Given the description of an element on the screen output the (x, y) to click on. 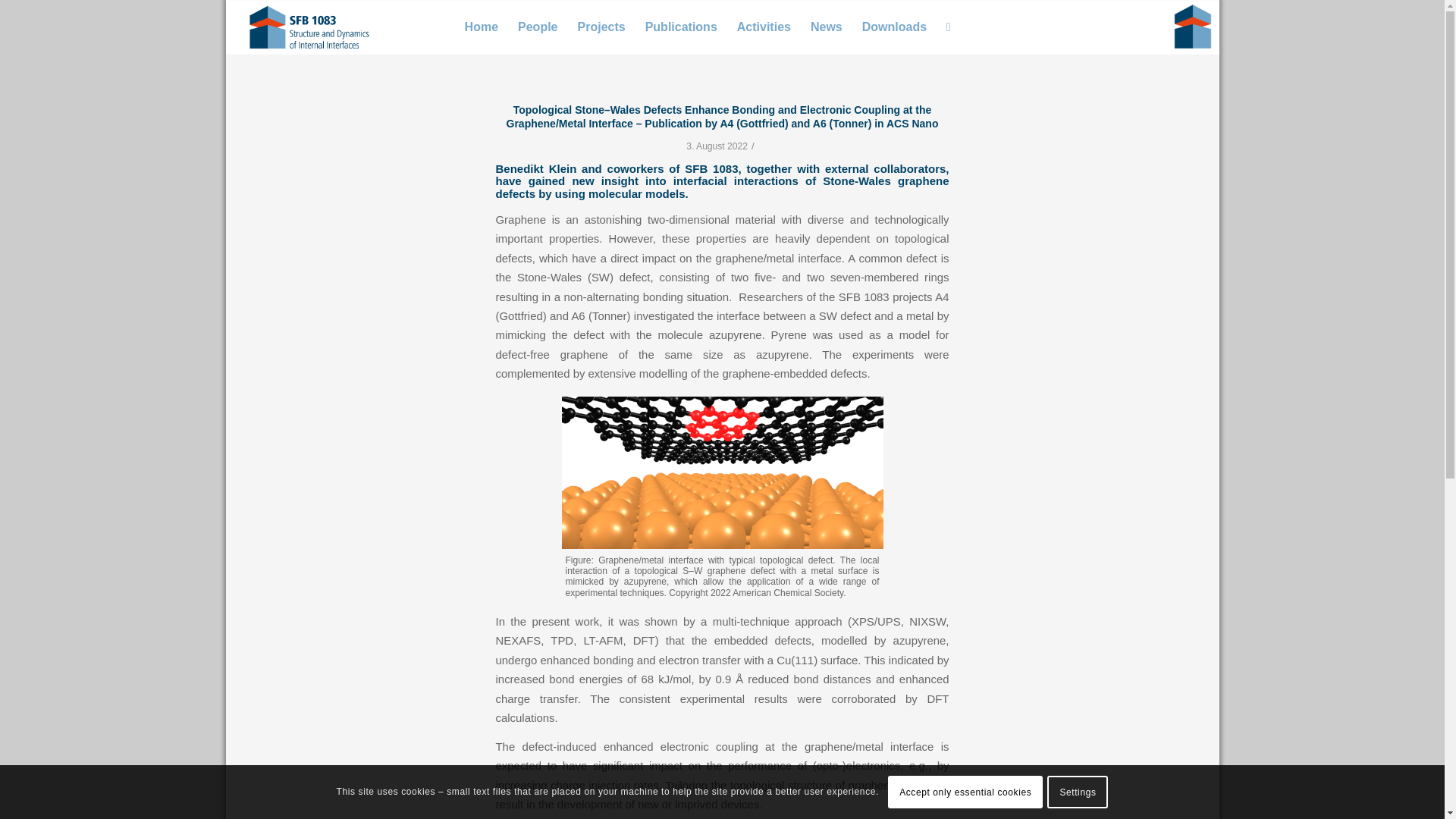
Home (481, 27)
Projects (600, 27)
People (537, 27)
